Given the description of an element on the screen output the (x, y) to click on. 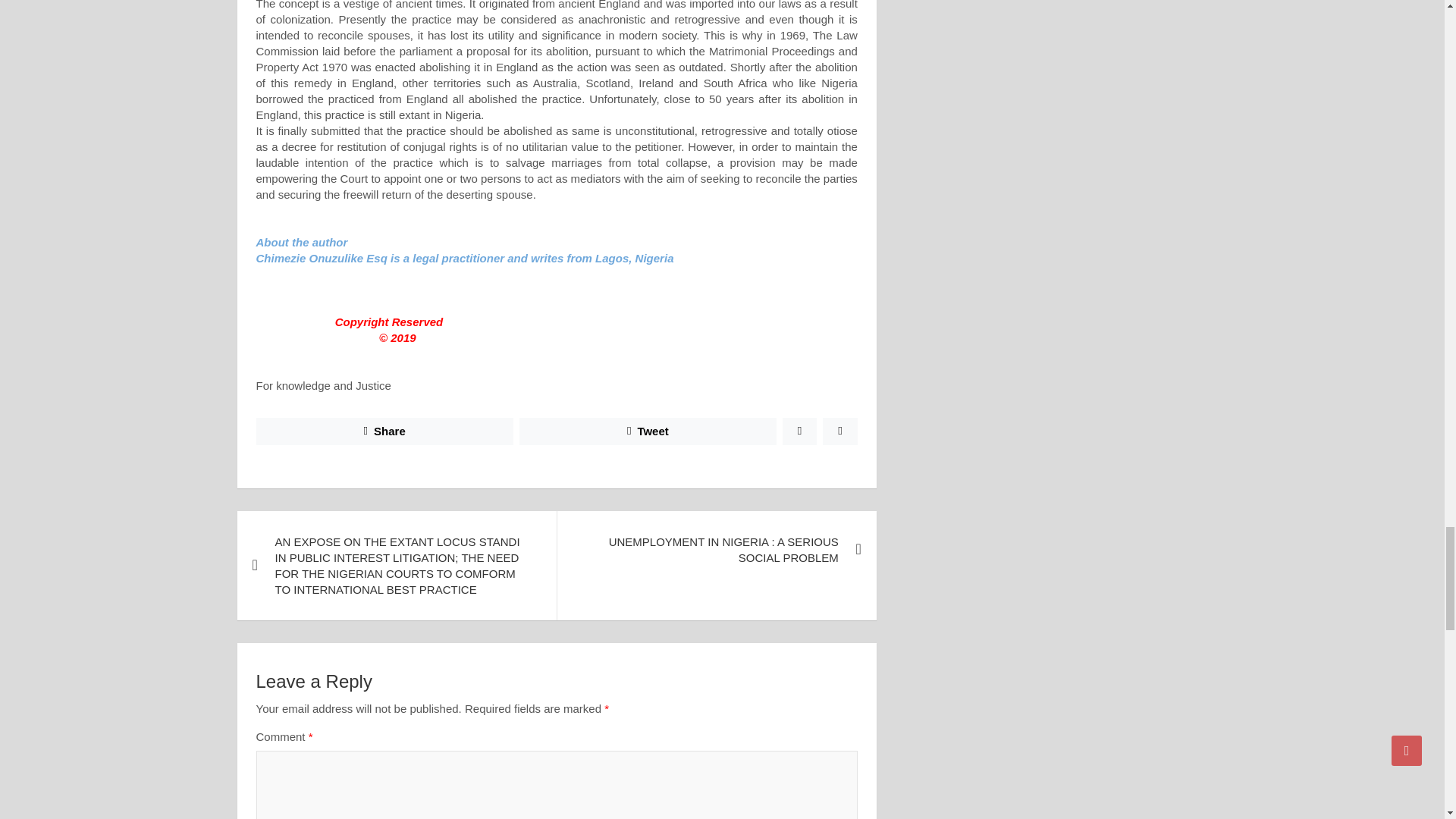
UNEMPLOYMENT IN NIGERIA : A SERIOUS SOCIAL PROBLEM (716, 549)
Share (384, 431)
Tweet (647, 431)
